Given the description of an element on the screen output the (x, y) to click on. 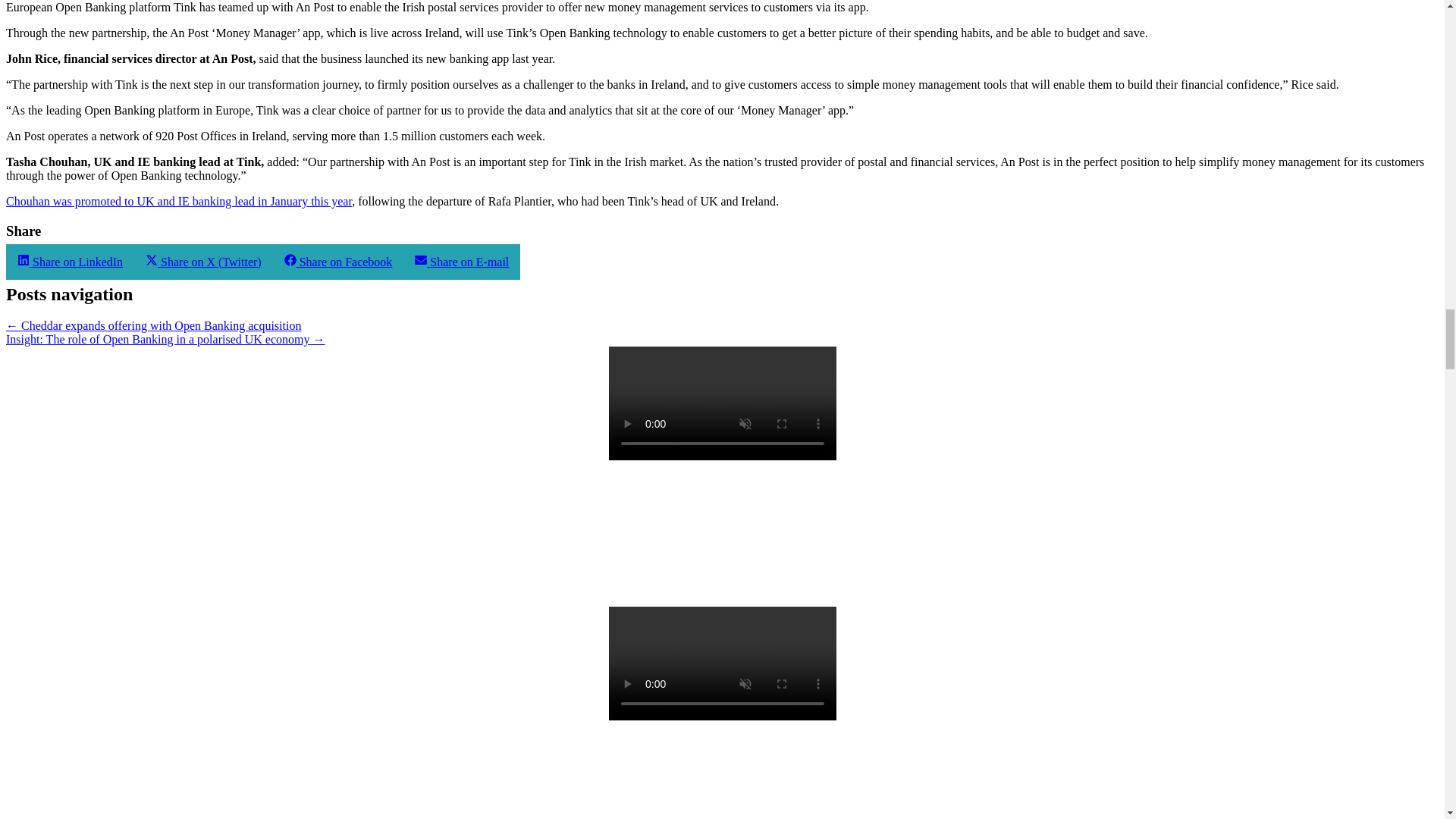
Share on Facebook (338, 262)
Share on E-mail (461, 262)
Share on LinkedIn (69, 262)
